Given the description of an element on the screen output the (x, y) to click on. 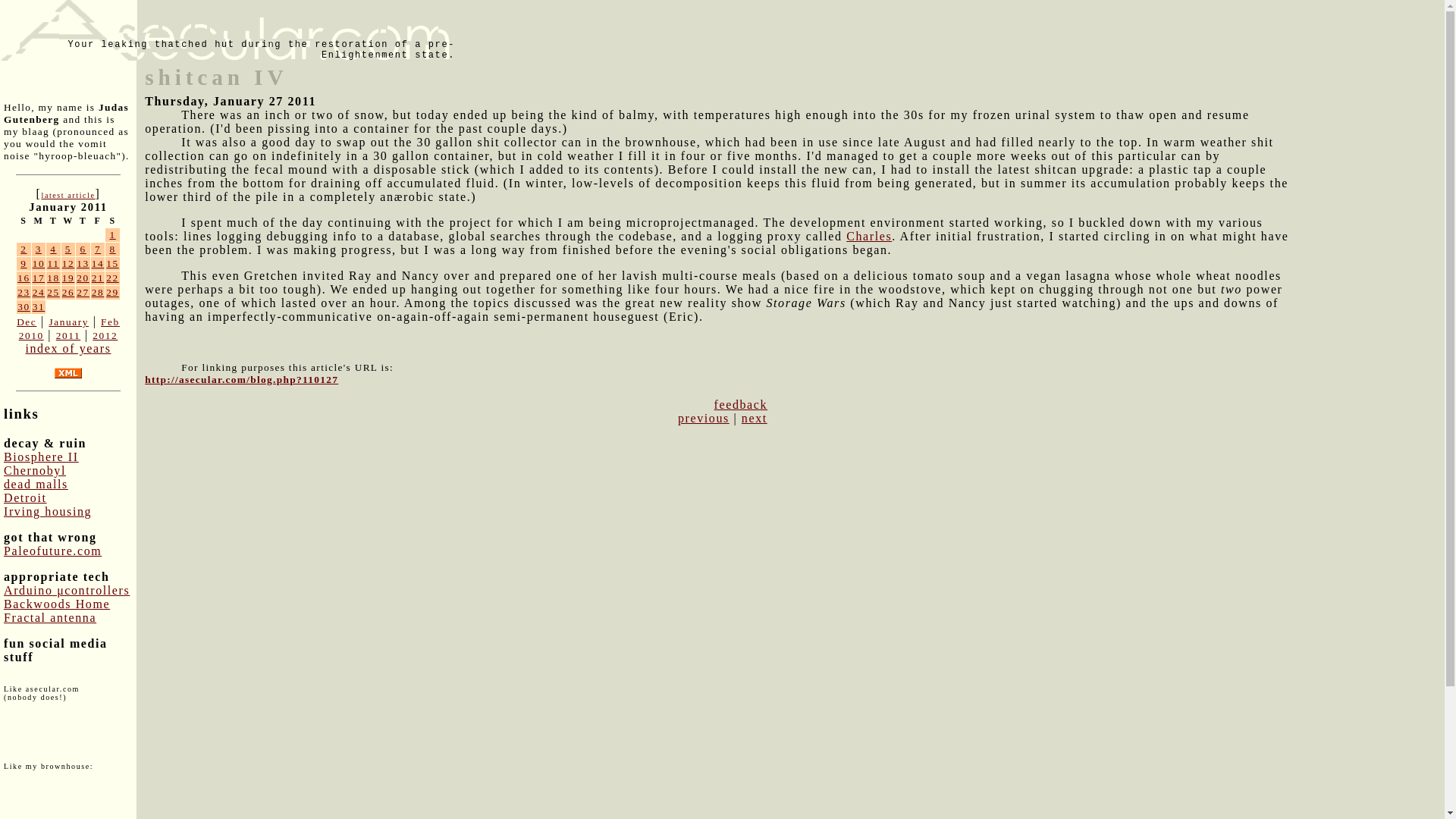
20 (82, 277)
26 (68, 292)
11 (52, 263)
24 (38, 292)
10 (38, 263)
27 (82, 292)
23 (23, 292)
15 (112, 263)
30 (23, 306)
index of years (67, 348)
